Given the description of an element on the screen output the (x, y) to click on. 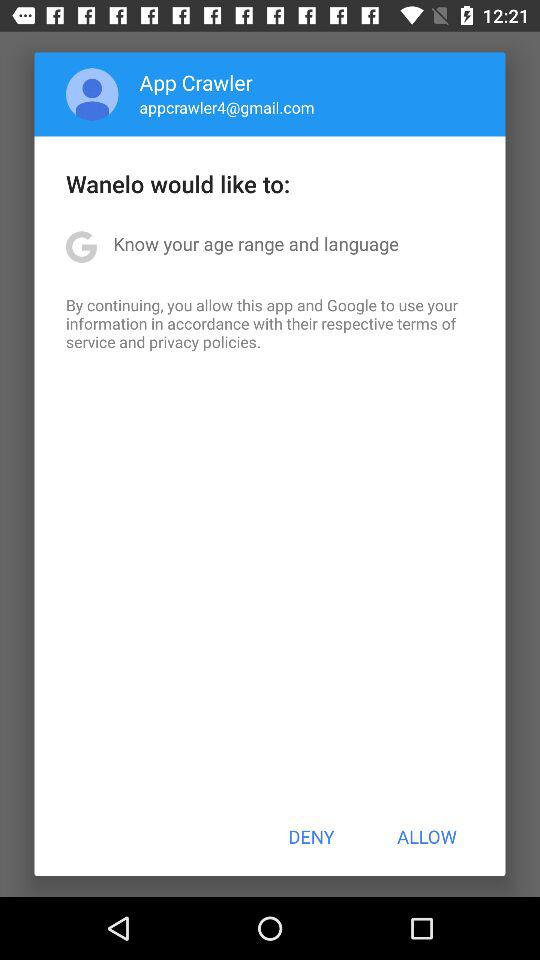
select know your age (255, 243)
